Given the description of an element on the screen output the (x, y) to click on. 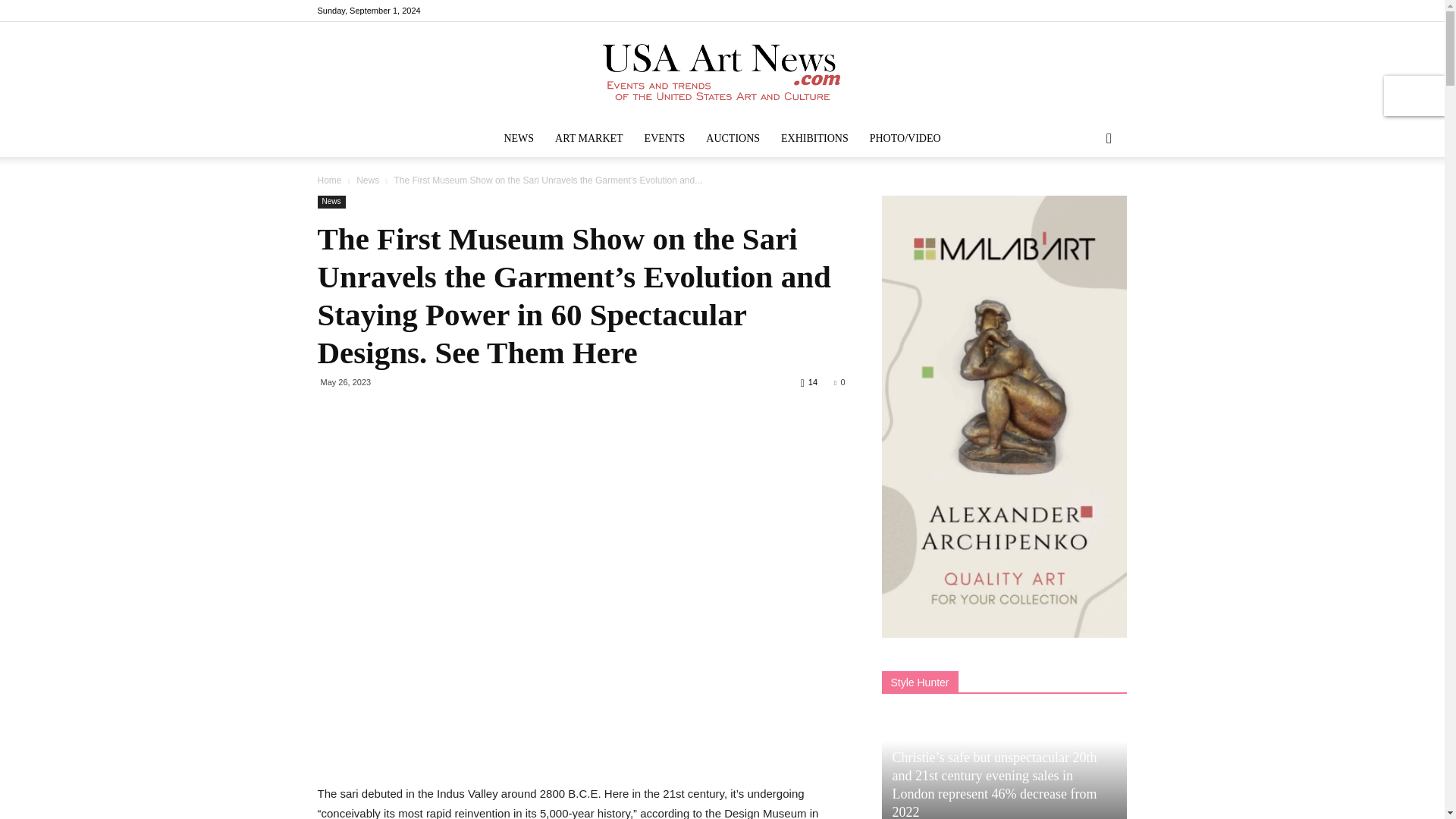
RSS (1090, 10)
Twitter (1114, 10)
Facebook (1040, 10)
ART MARKET (588, 138)
Instagram (1065, 10)
NEWS (518, 138)
EVENTS (664, 138)
